Given the description of an element on the screen output the (x, y) to click on. 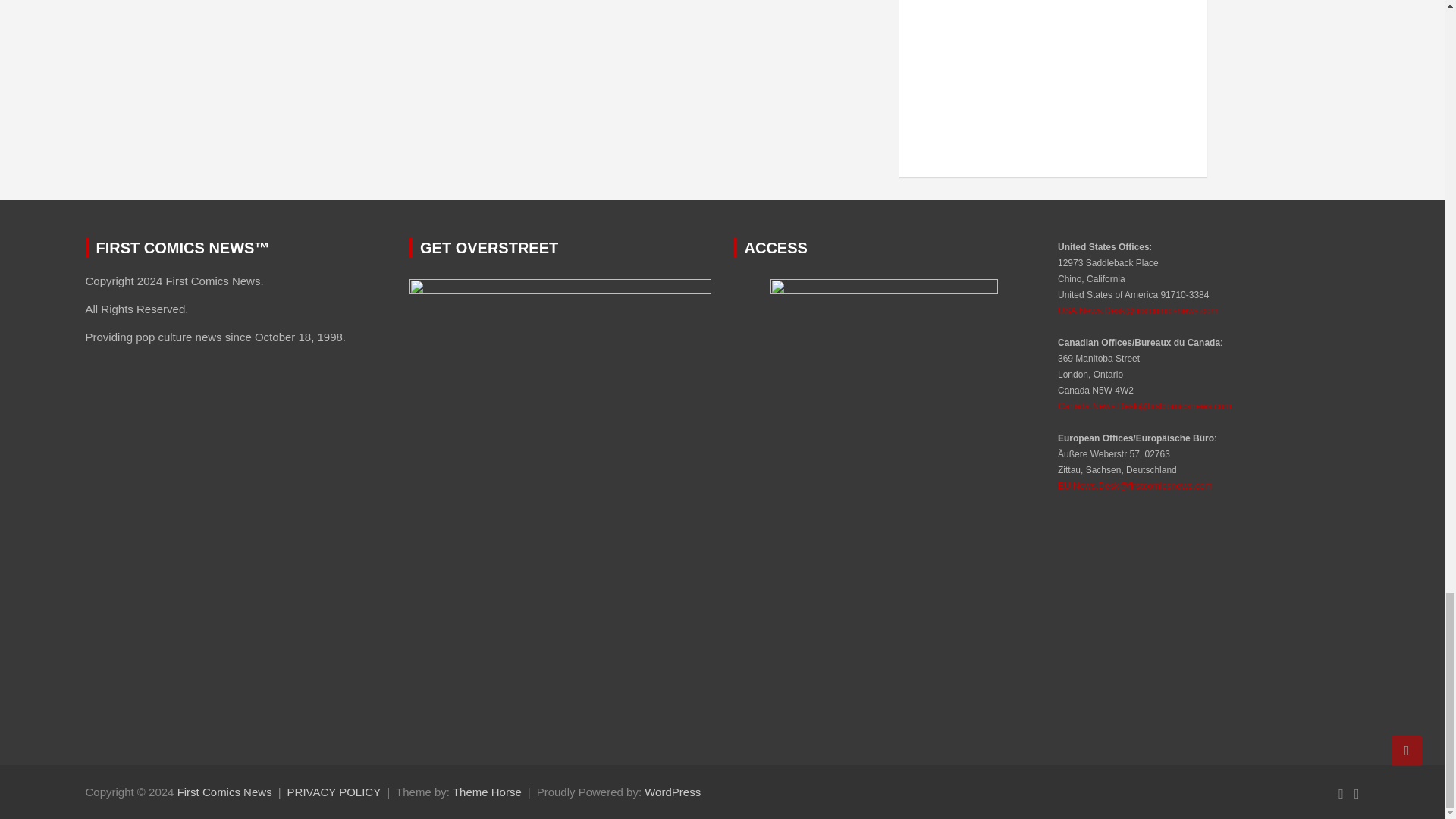
First Comics News (224, 791)
WordPress (672, 791)
Theme Horse (486, 791)
